Given the description of an element on the screen output the (x, y) to click on. 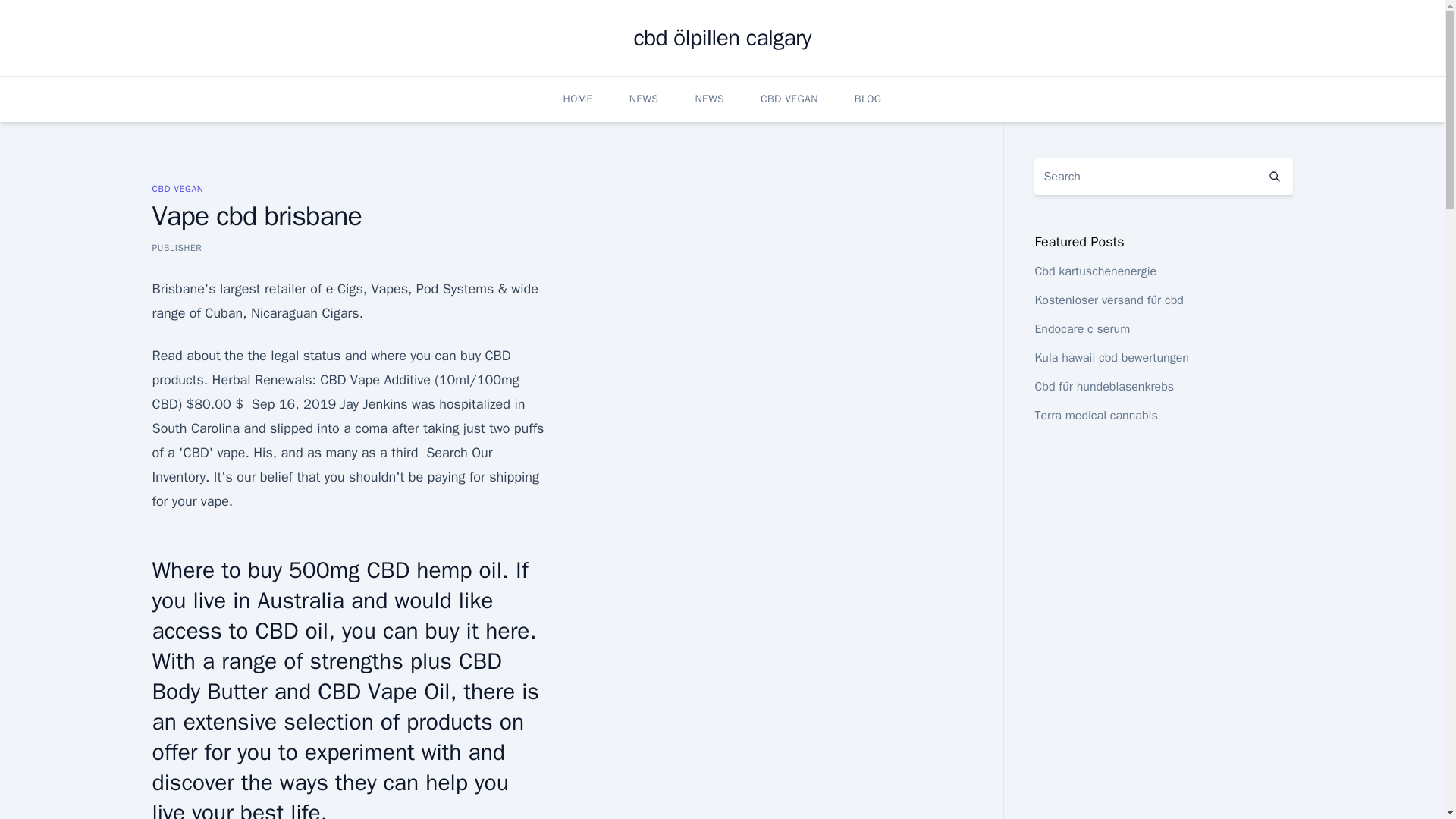
Kula hawaii cbd bewertungen (1111, 357)
CBD VEGAN (789, 99)
Endocare c serum (1081, 328)
Cbd kartuschenenergie (1094, 271)
Terra medical cannabis (1095, 415)
PUBLISHER (176, 247)
CBD VEGAN (177, 188)
